Given the description of an element on the screen output the (x, y) to click on. 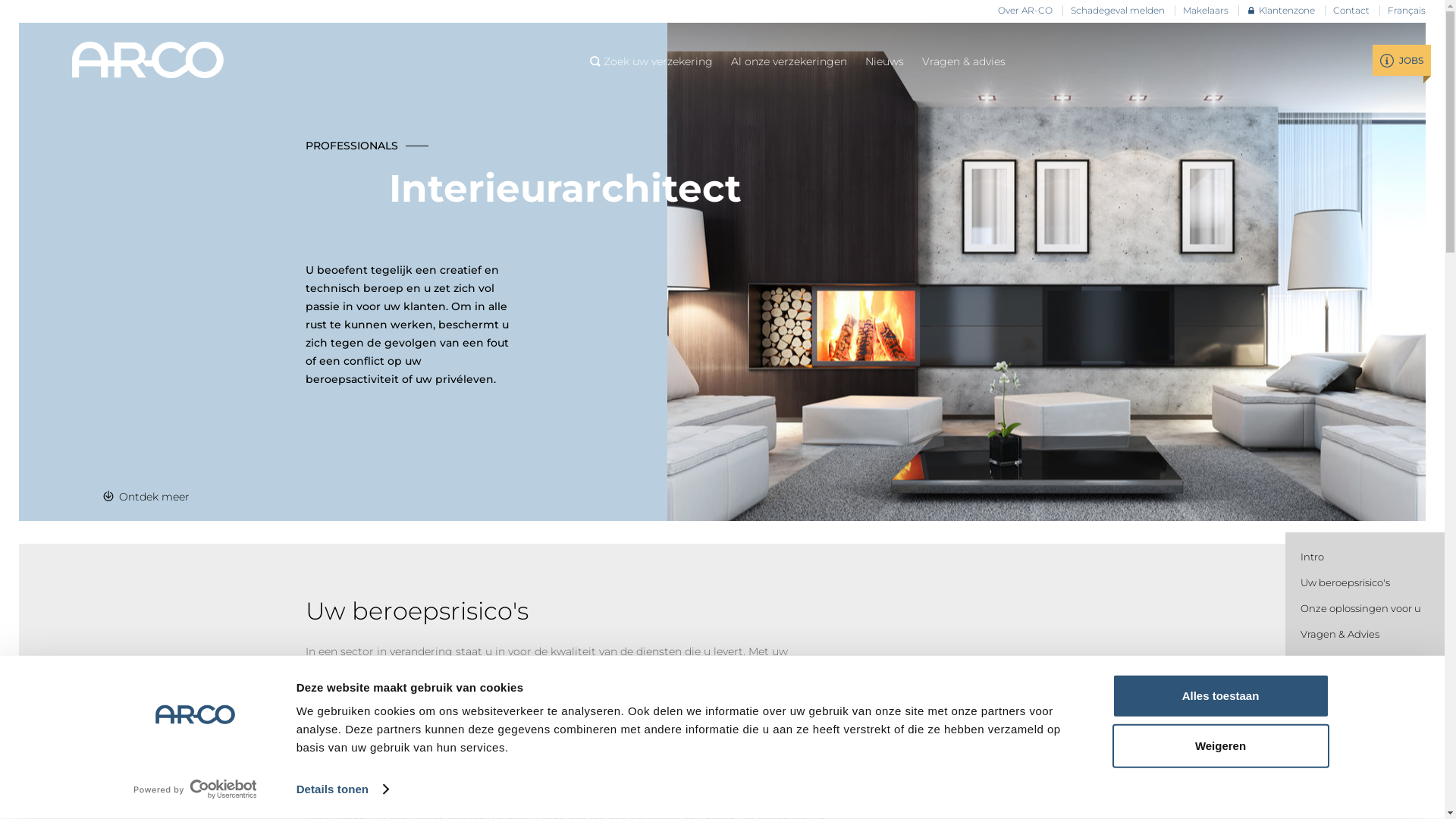
JOBS Element type: text (1401, 59)
Vragen & Advies Element type: text (1339, 633)
Zoek uw verzekering Element type: text (650, 61)
Over AR-CO Element type: text (1024, 10)
Nieuws Element type: text (884, 61)
Schadegeval melden Element type: text (1117, 10)
Details tonen Element type: text (342, 789)
Makelaars Element type: text (1205, 10)
Intro Element type: text (1312, 556)
Vragen & advies Element type: text (963, 61)
Weigeren Element type: text (1219, 745)
Ontdek meer Element type: text (146, 496)
Alles toestaan Element type: text (1219, 696)
Klantenzone Element type: text (1280, 10)
Contact Element type: text (1319, 659)
Al onze verzekeringen Element type: text (789, 61)
Uw beroepsrisico's Element type: text (1345, 582)
Onze oplossingen voor u Element type: text (1360, 608)
Contact Element type: text (1351, 10)
